Given the description of an element on the screen output the (x, y) to click on. 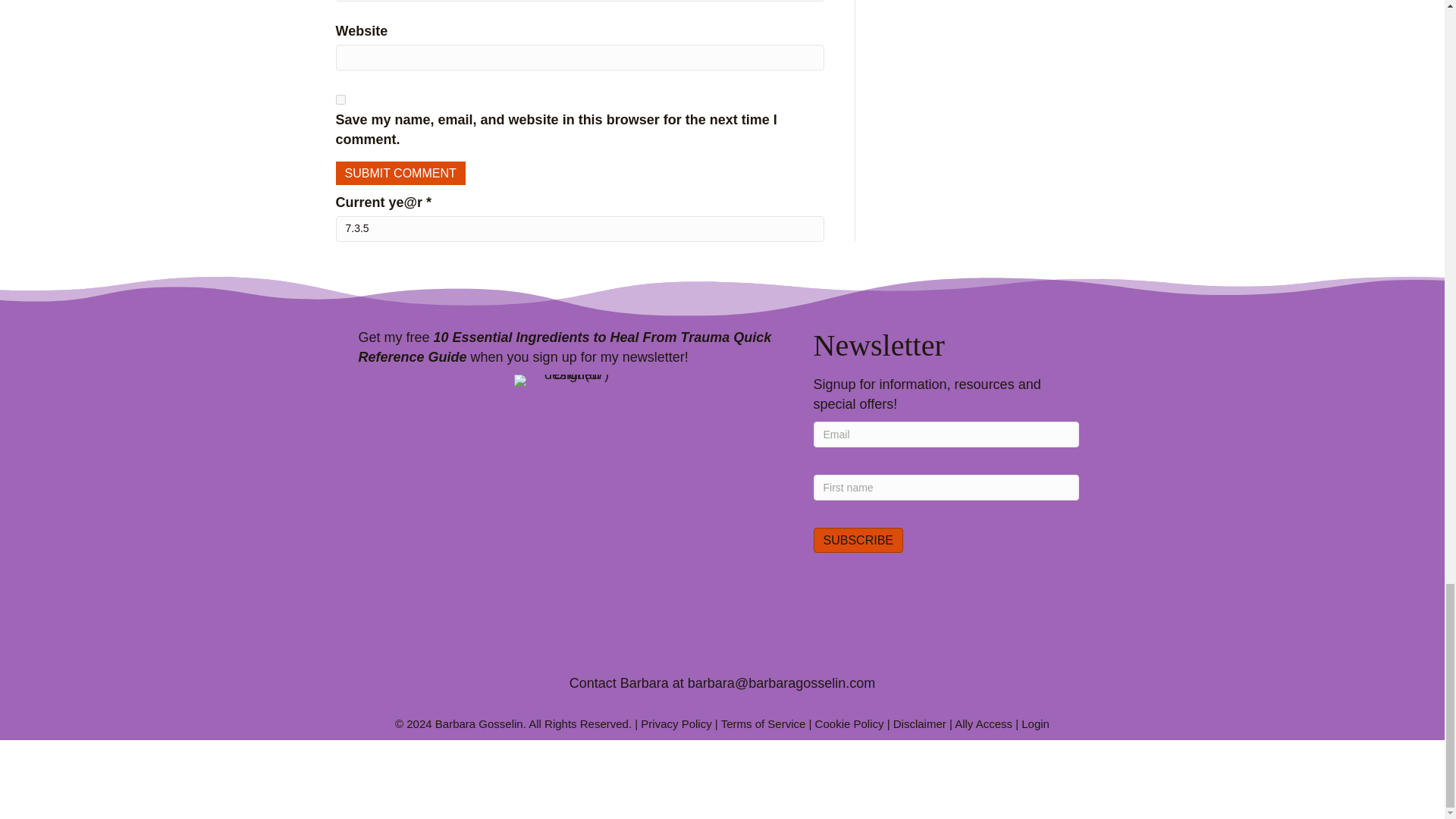
Submit Comment (399, 173)
yes (339, 99)
Disclaimer (919, 723)
Cookie Policy (849, 723)
Login (1035, 723)
Privacy Policy (675, 723)
Submit Comment (399, 173)
Ally Access (983, 723)
7.3.5 (579, 228)
Terms of Service (763, 723)
SUBSCRIBE (857, 539)
